Given the description of an element on the screen output the (x, y) to click on. 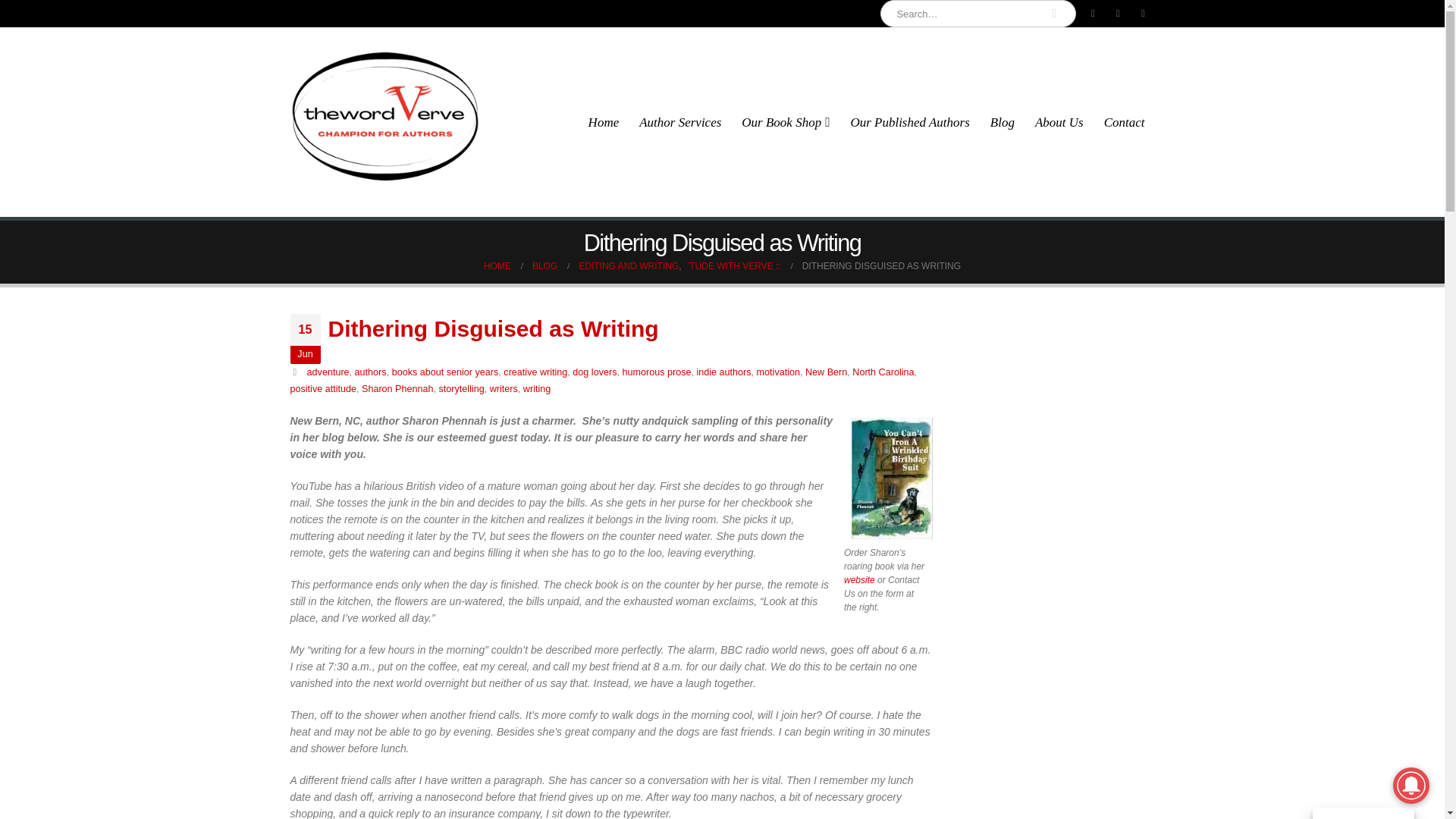
website (859, 579)
Author Services (679, 122)
Home (603, 122)
Search (1053, 13)
Go to Home Page (497, 265)
Our Book Shop (786, 122)
Twitter (1117, 13)
Facebook (1092, 13)
1317728115157238940755 (888, 477)
Instagram (1143, 13)
